Given the description of an element on the screen output the (x, y) to click on. 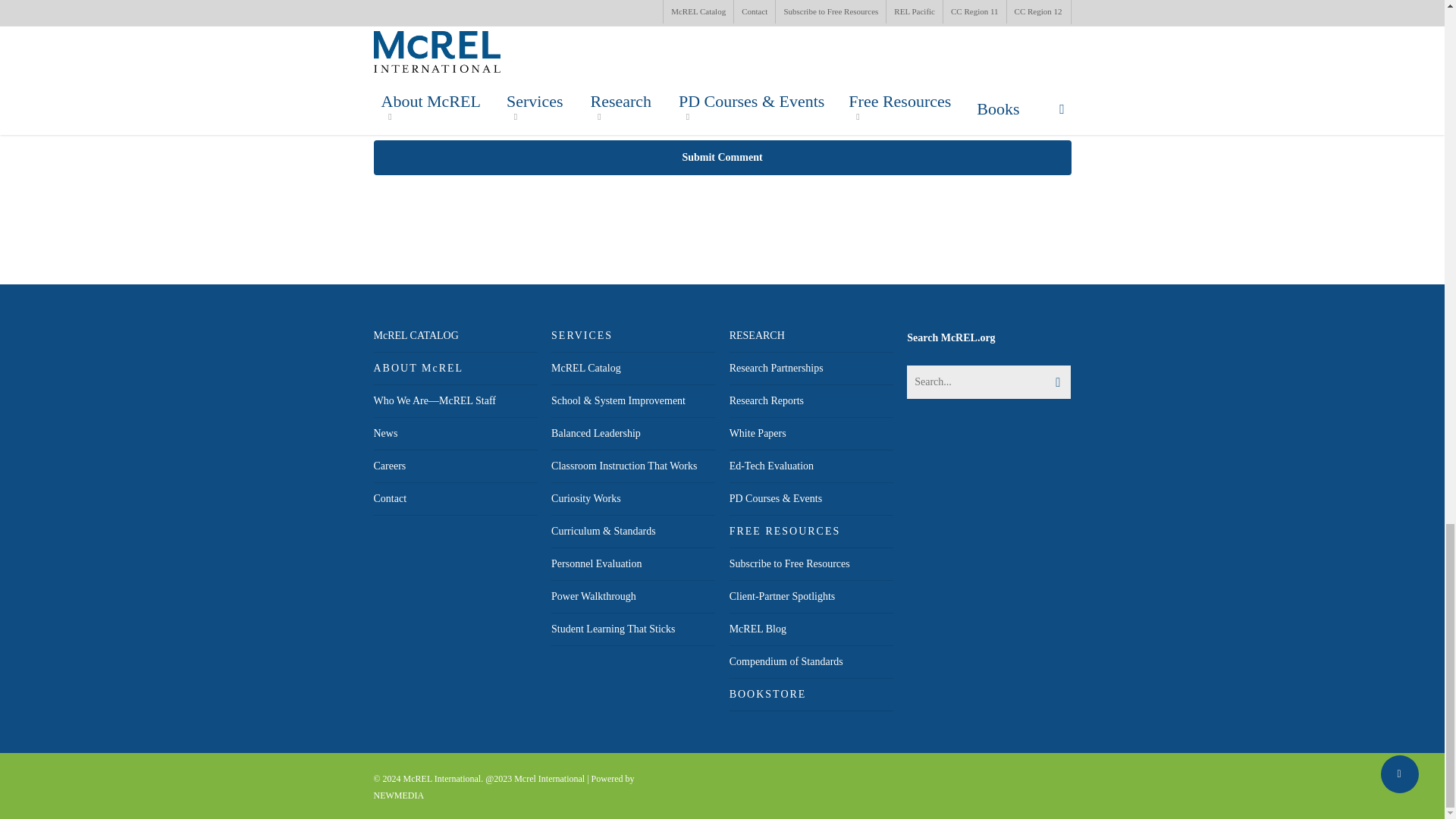
Search for: (988, 381)
yes (380, 108)
Submit Comment (721, 157)
